Given the description of an element on the screen output the (x, y) to click on. 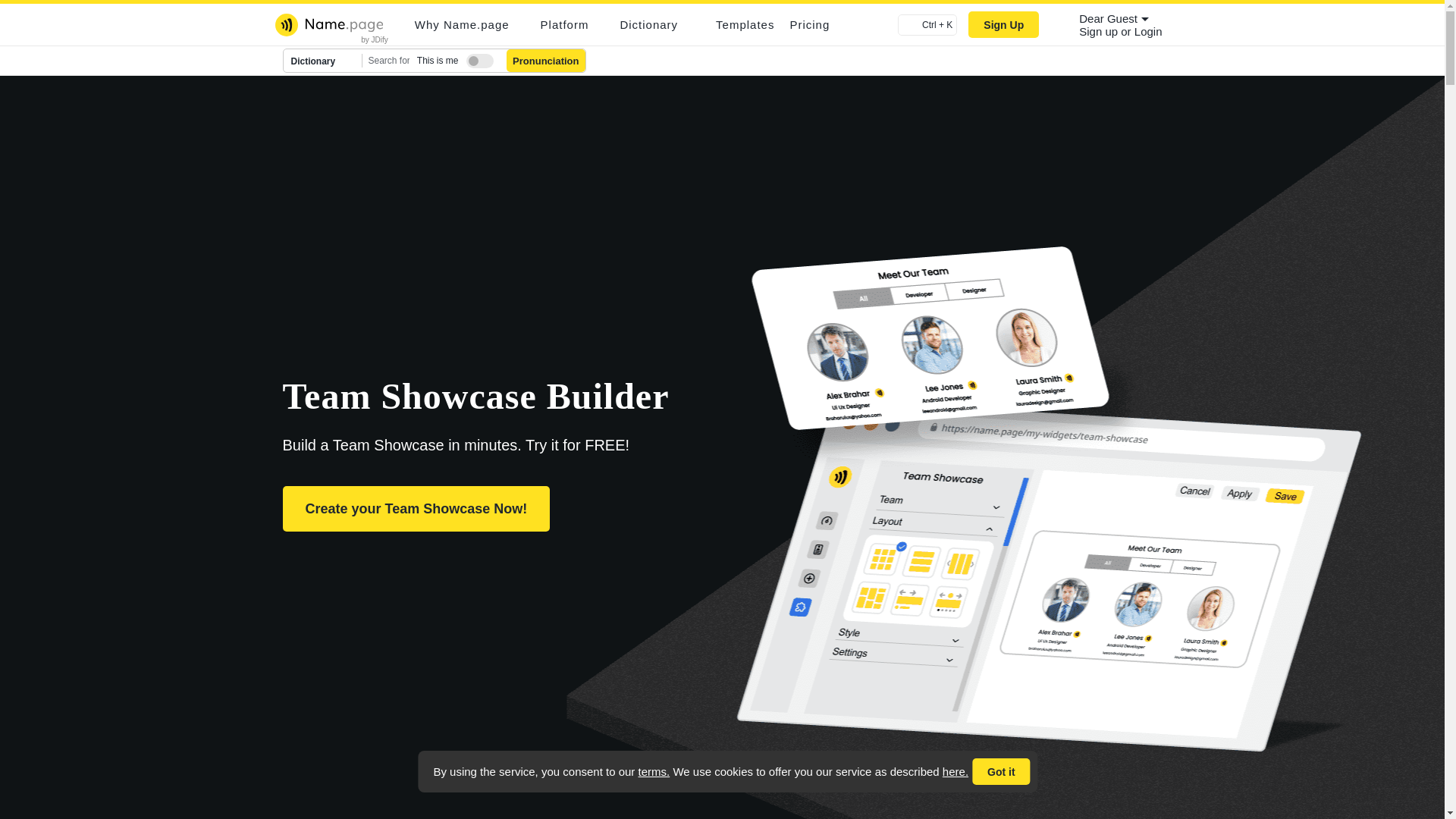
Search name pronunciation (545, 60)
Sign in to your account (1147, 31)
Sign up (1099, 31)
Pronunciation (545, 60)
Dictionary (322, 60)
Sign-up it's free and takes just 2 minutes (1099, 31)
Login (1147, 31)
by JDify (374, 39)
Sign Up (1003, 24)
Pricing (809, 24)
Is this your name? (476, 58)
Templates (745, 24)
